Given the description of an element on the screen output the (x, y) to click on. 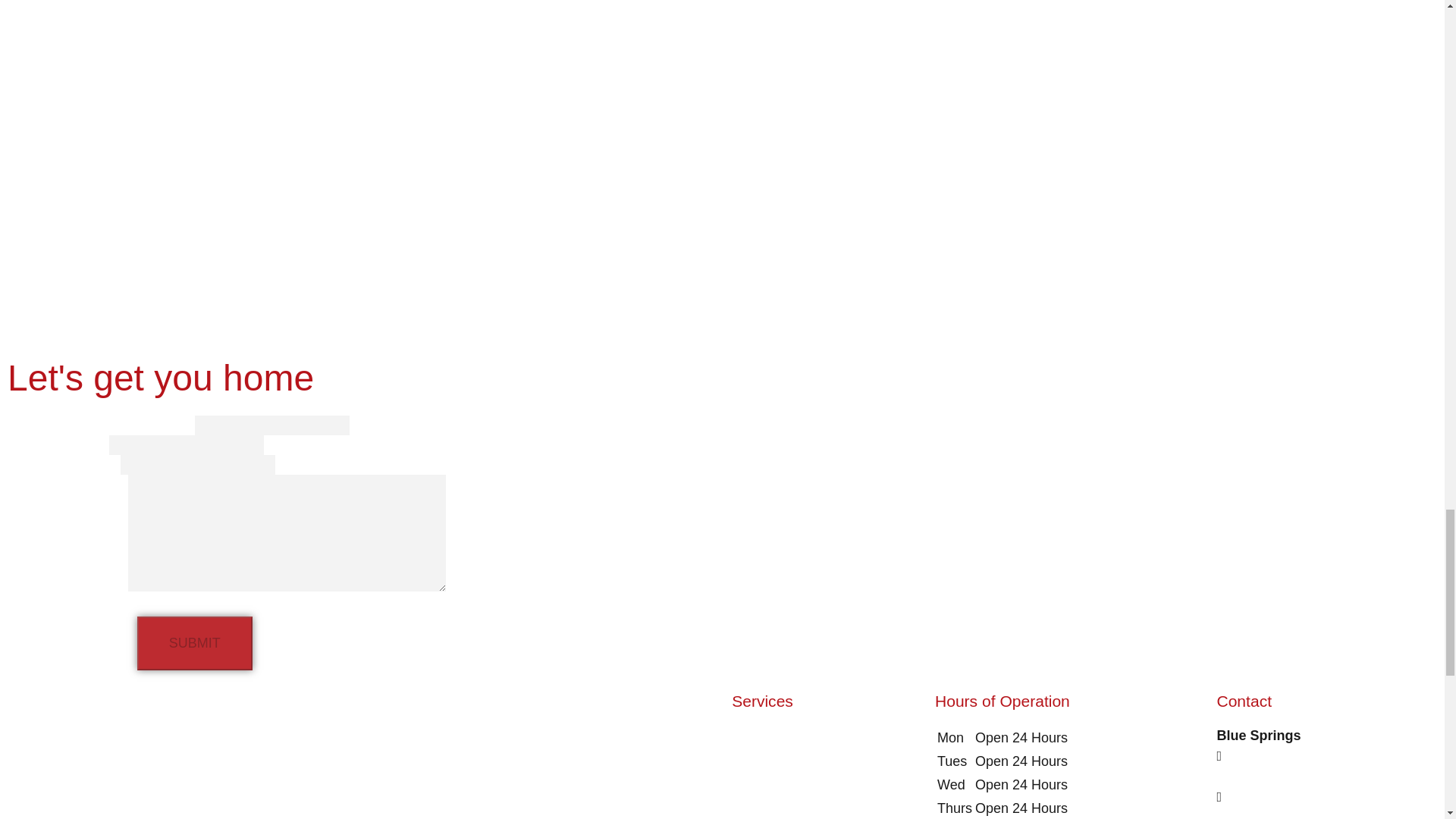
Submit (193, 643)
